Given the description of an element on the screen output the (x, y) to click on. 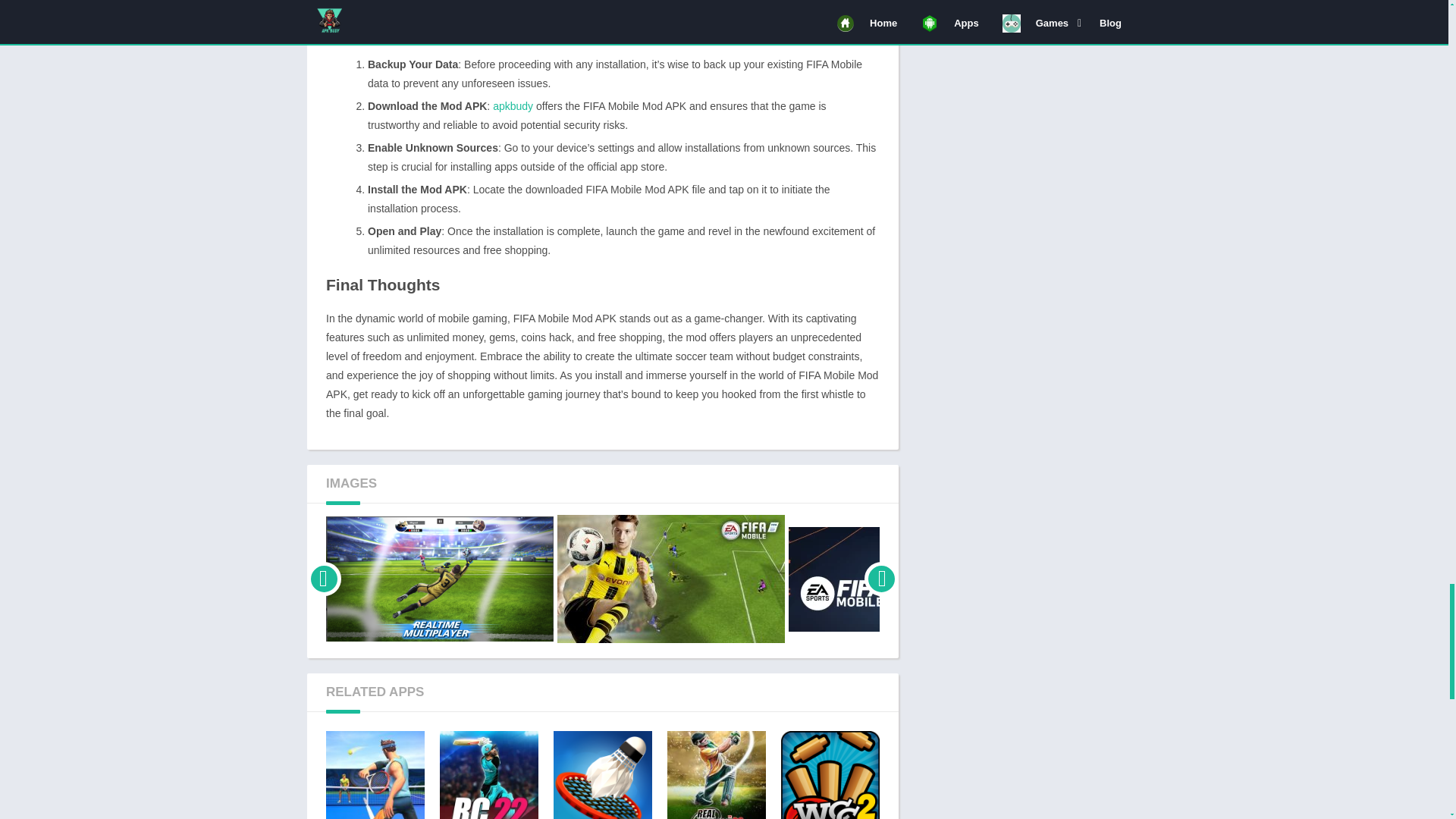
Badminton League Mod APK (602, 775)
Real Cricket 22 Mod APK (488, 775)
World Cricket Championship 2 Mod APK (829, 775)
Real Cricket 20 Mod APK (715, 775)
